Given the description of an element on the screen output the (x, y) to click on. 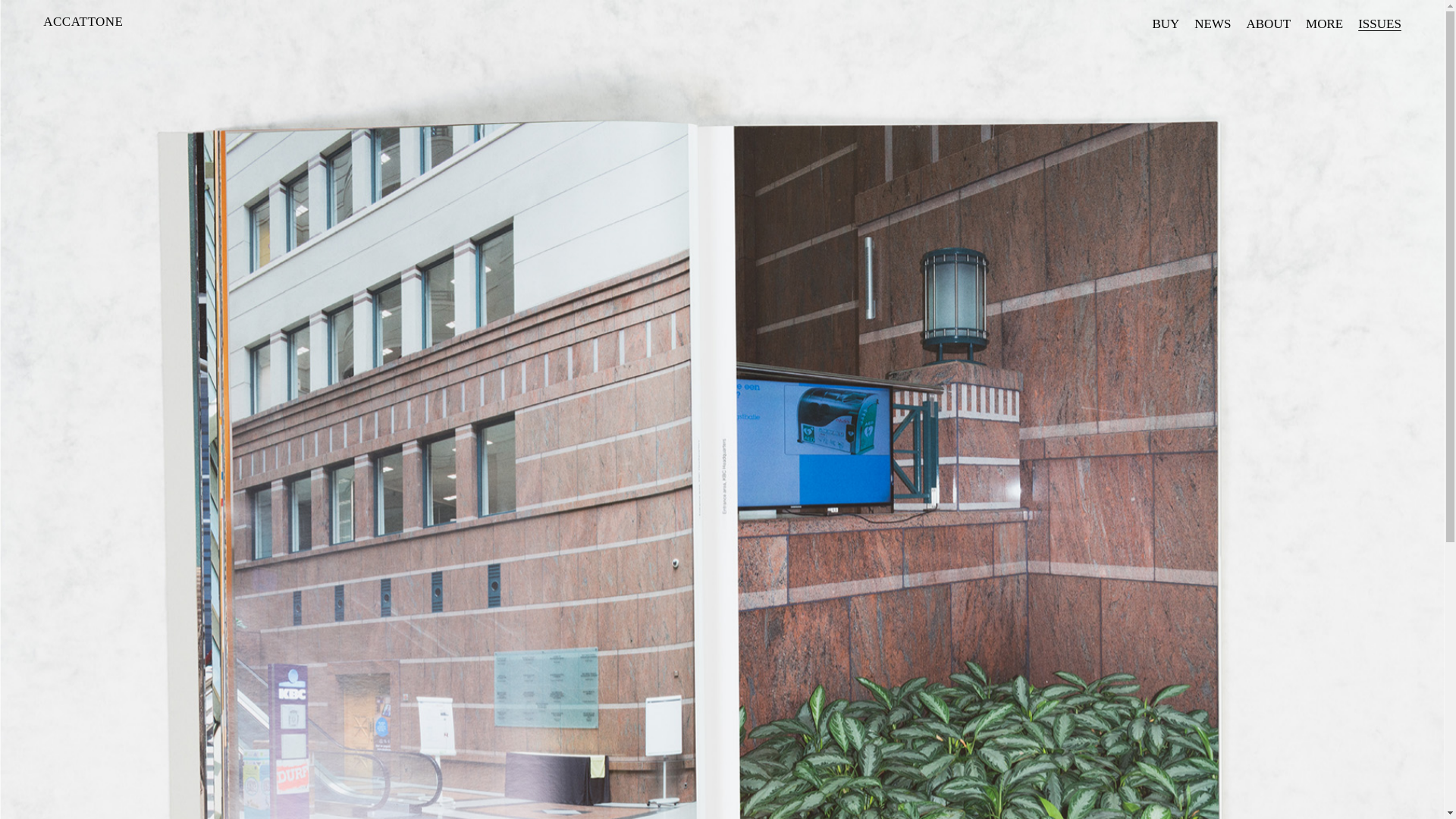
MORE Element type: text (1324, 23)
ABOUT Element type: text (1267, 23)
ACCATTONE Element type: text (82, 21)
NEWS Element type: text (1212, 23)
ISSUES Element type: text (1379, 23)
BUY Element type: text (1165, 23)
